Given the description of an element on the screen output the (x, y) to click on. 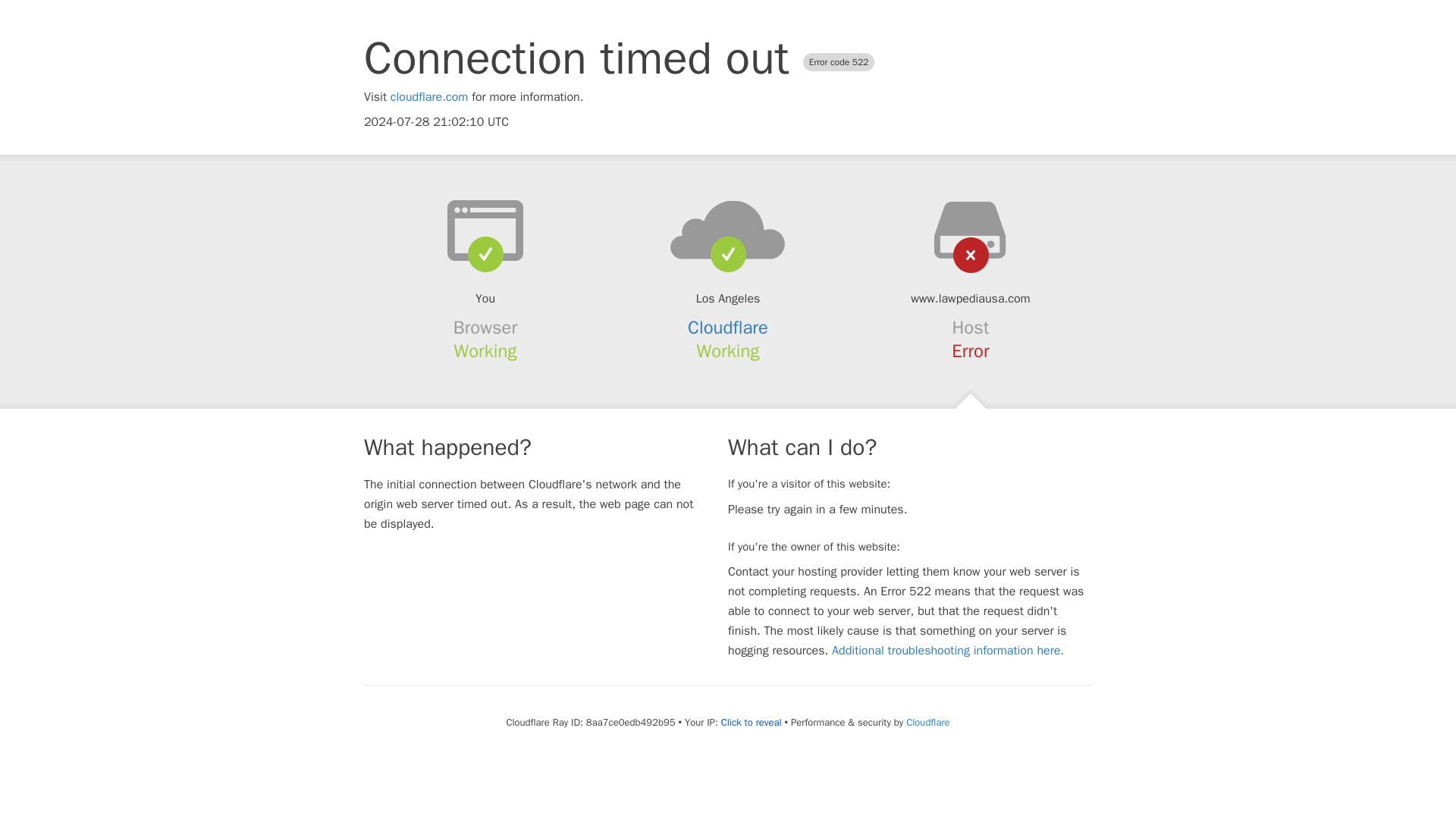
Cloudflare (927, 721)
cloudflare.com (429, 96)
Cloudflare (727, 327)
Additional troubleshooting information here. (947, 650)
Click to reveal (750, 722)
